Given the description of an element on the screen output the (x, y) to click on. 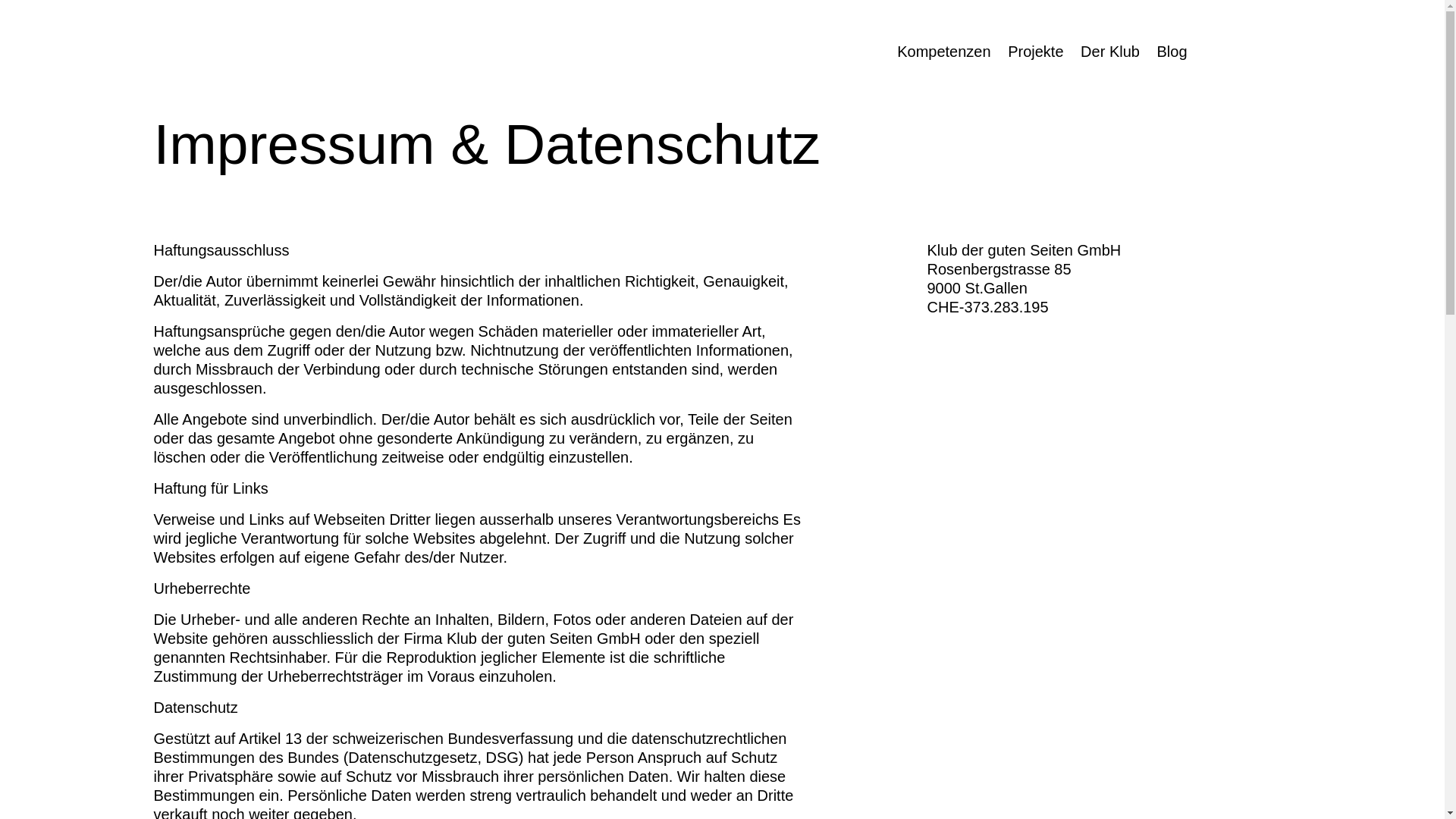
hallo@kdgs.ch Element type: text (226, 471)
Projekte Element type: text (1035, 52)
up! Element type: text (1242, 534)
LinkedIn Element type: text (722, 600)
Blog Element type: text (1171, 52)
071 244 66 11 Element type: text (225, 495)
Impressum & Datenschutz Element type: text (1210, 601)
Der Klub Element type: text (1109, 52)
Kompetenzen Element type: text (943, 52)
Facebook Element type: text (833, 600)
Instagram Element type: text (609, 600)
